Given the description of an element on the screen output the (x, y) to click on. 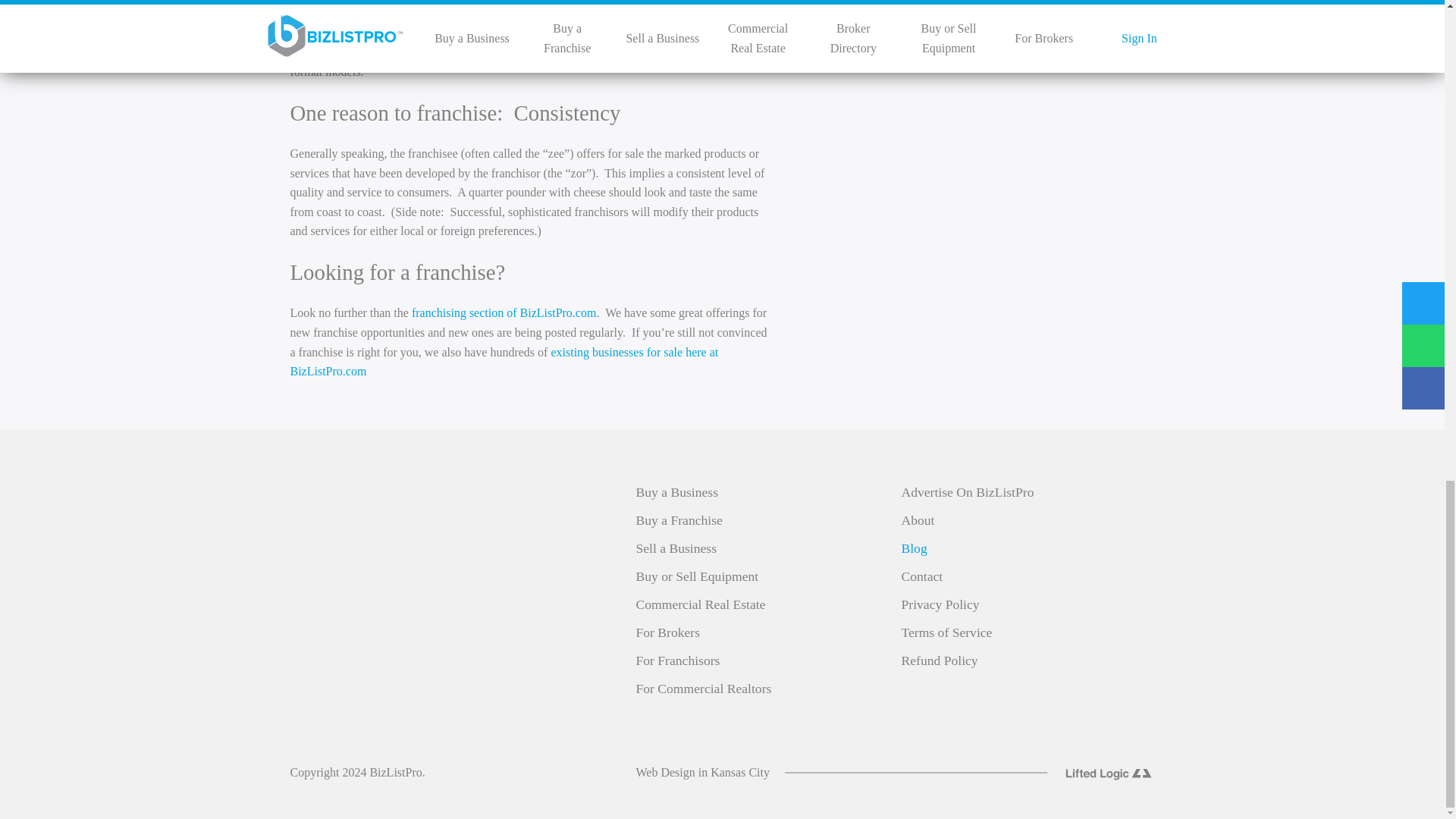
For Franchisors (676, 660)
For Brokers (667, 631)
For Commercial Realtors (702, 688)
franchising section of BizListPro.com (504, 312)
Web Design in Kansas City (701, 772)
Terms of Service (946, 631)
Buy a Business (675, 491)
Refund Policy (938, 660)
Advertise On BizListPro (967, 491)
Privacy Policy (939, 604)
